Given the description of an element on the screen output the (x, y) to click on. 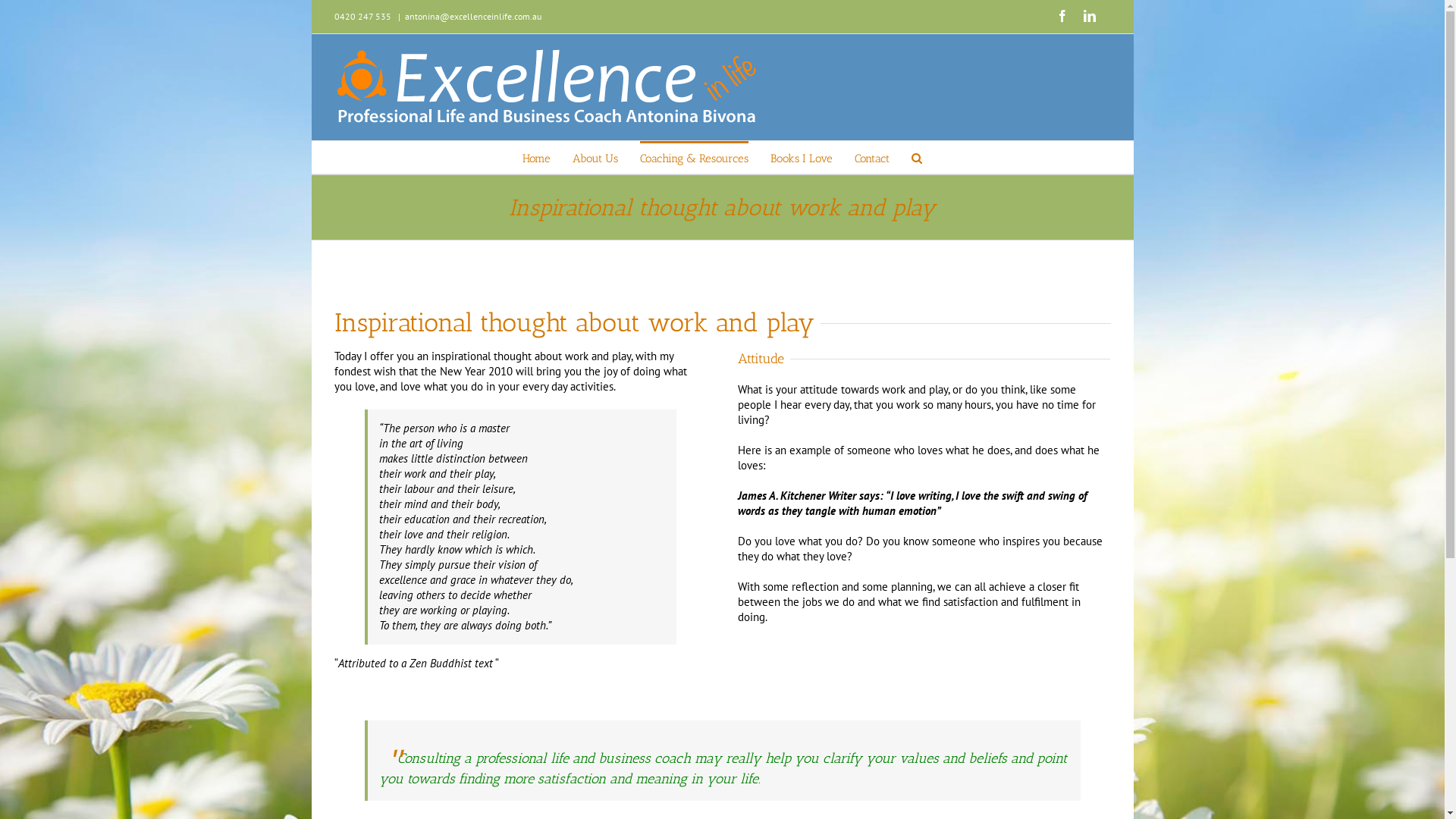
Contact Element type: text (871, 157)
About Us Element type: text (595, 157)
Home Element type: text (536, 157)
Coaching & Resources Element type: text (694, 157)
Linkedin Element type: hover (1088, 15)
antonina@excellenceinlife.com.au Element type: text (472, 15)
Facebook Element type: hover (1061, 15)
Books I Love Element type: text (801, 157)
